Given the description of an element on the screen output the (x, y) to click on. 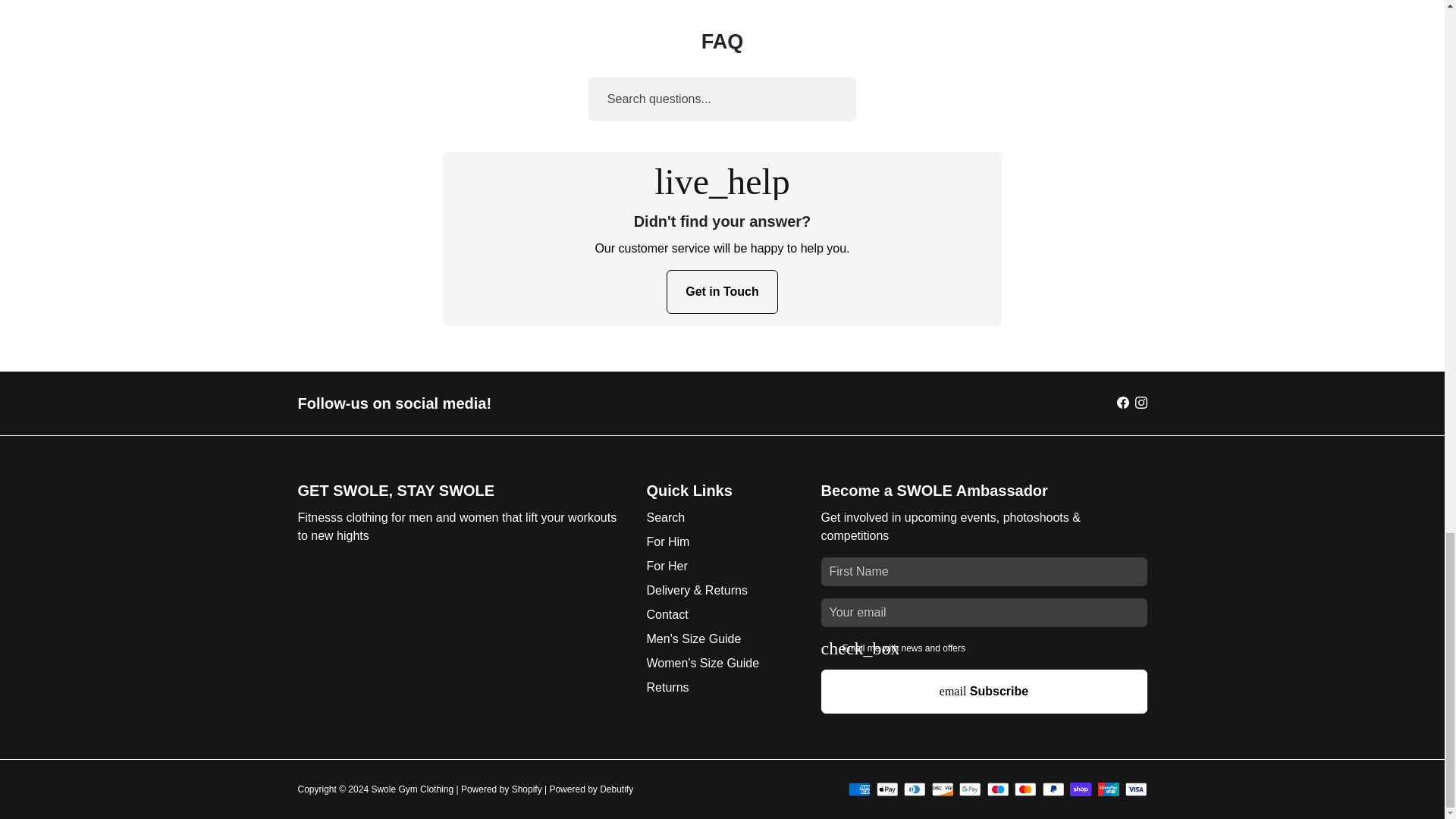
Visa (1136, 789)
Union Pay (1108, 789)
American Express (859, 789)
Discover (941, 789)
Shop Pay (1081, 789)
Google Pay (970, 789)
Maestro (998, 789)
PayPal (1052, 789)
Diners Club (915, 789)
Apple Pay (887, 789)
Mastercard (1025, 789)
